Given the description of an element on the screen output the (x, y) to click on. 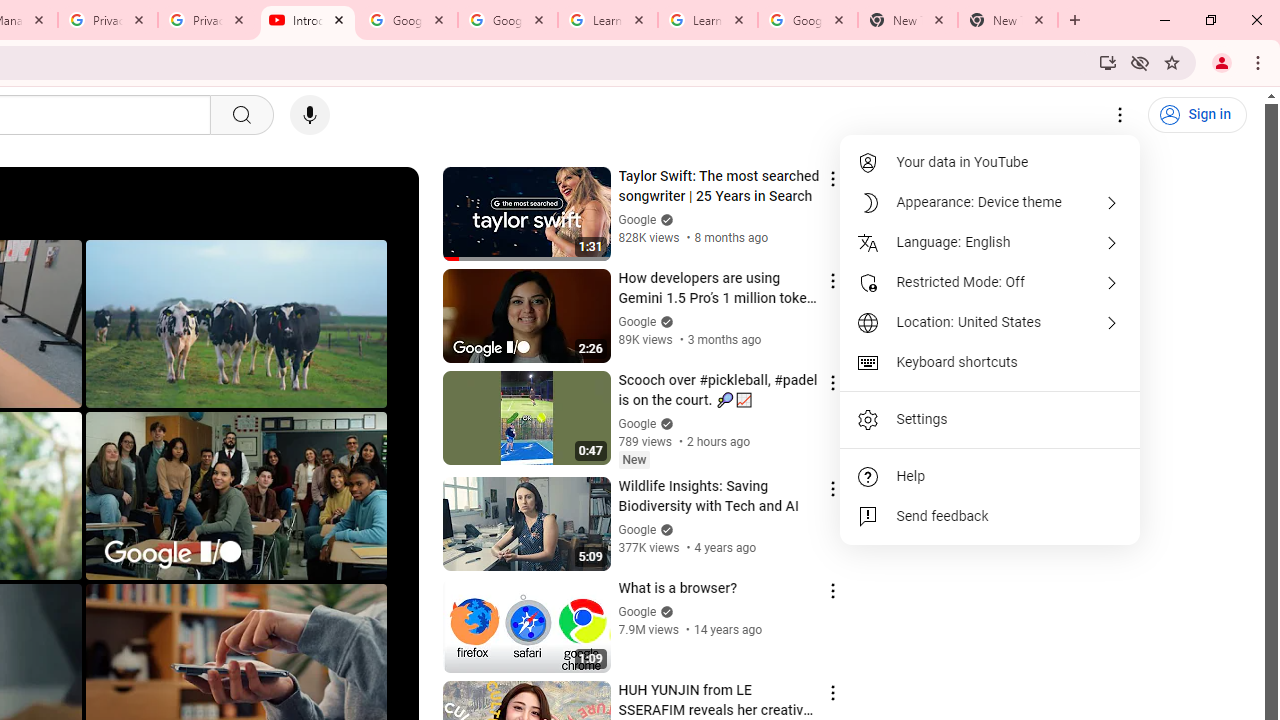
Search with your voice (309, 115)
New Tab (907, 20)
Restricted Mode: Off (989, 282)
Keyboard shortcuts (989, 362)
Install YouTube (1107, 62)
Your data in YouTube (989, 162)
Location: United States (989, 322)
Introduction | Google Privacy Policy - YouTube (308, 20)
